Given the description of an element on the screen output the (x, y) to click on. 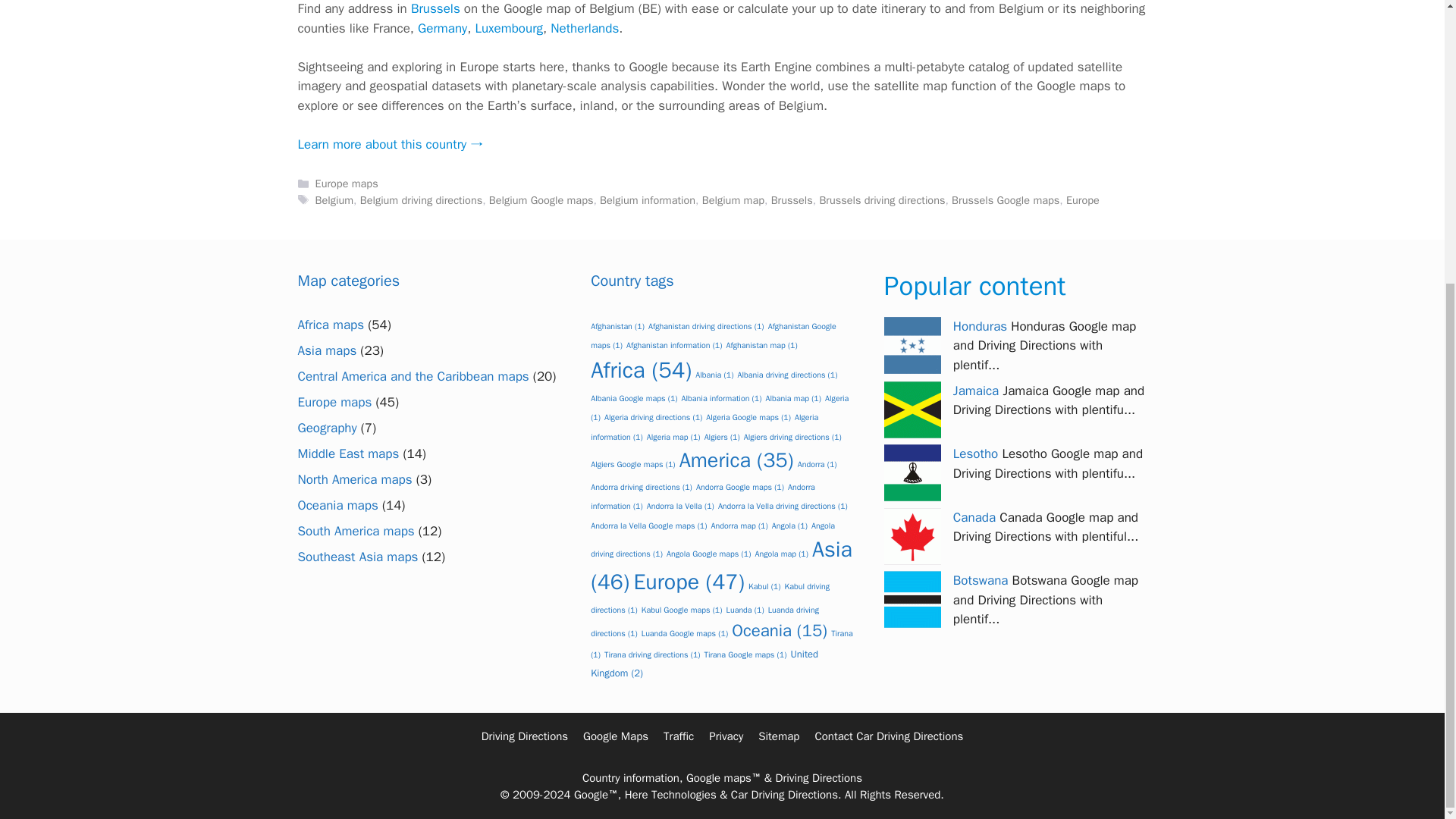
Luxembourg (508, 28)
Belgium information (647, 200)
Europe maps (346, 183)
Brussels (435, 8)
Netherlands (584, 28)
Belgium map (732, 200)
Belgium driving directions (420, 200)
Belgium (334, 200)
Belgium Google maps (541, 200)
Germany (442, 28)
